Given the description of an element on the screen output the (x, y) to click on. 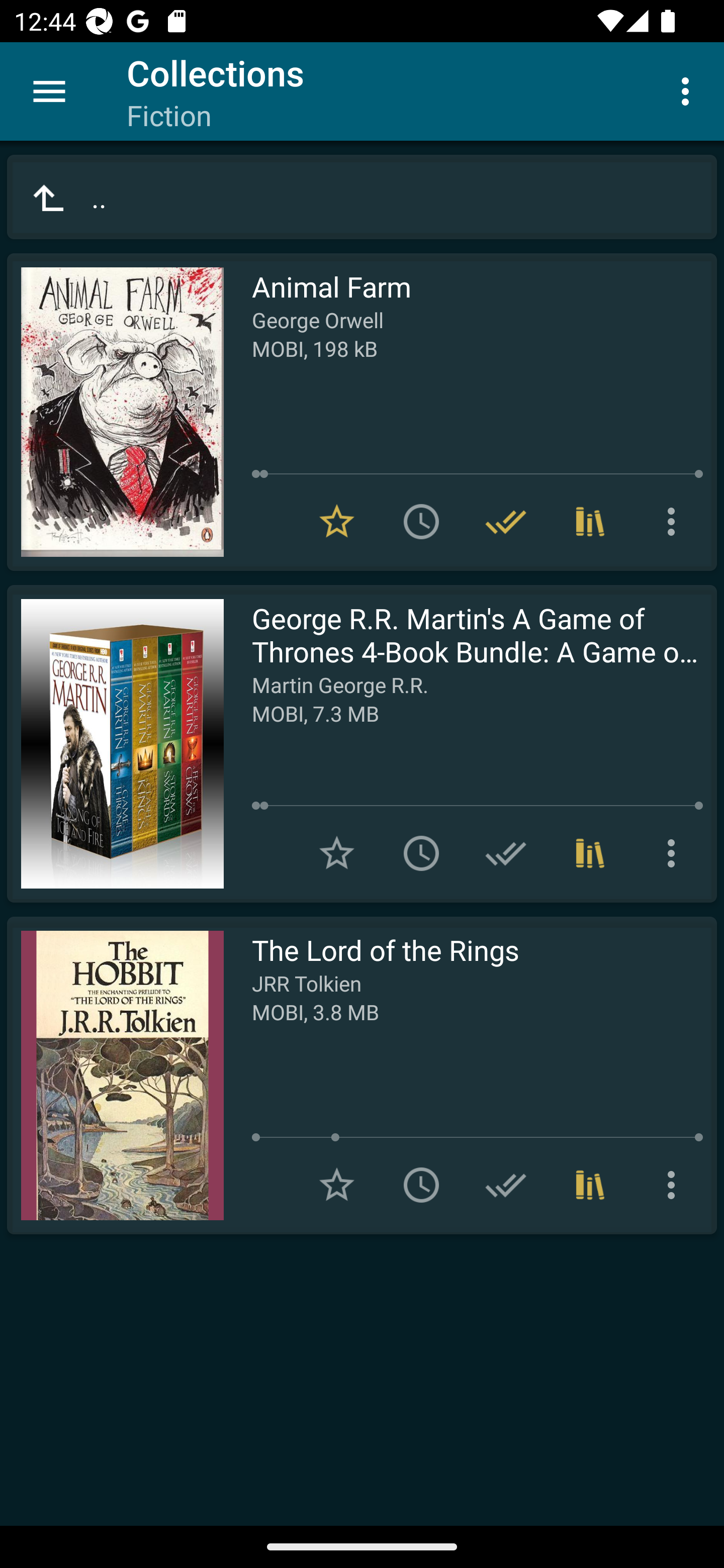
Menu (49, 91)
More options (688, 90)
.. (361, 197)
Read Animal Farm (115, 412)
Remove from Favorites (336, 521)
Add to To read (421, 521)
Remove from Have read (505, 521)
Collections (1) (590, 521)
More options (674, 521)
Add to Favorites (336, 852)
Add to To read (421, 852)
Add to Have read (505, 852)
Collections (1) (590, 852)
More options (674, 852)
Read The Lord of the Rings (115, 1075)
Add to Favorites (336, 1185)
Add to To read (421, 1185)
Add to Have read (505, 1185)
Collections (1) (590, 1185)
More options (674, 1185)
